Given the description of an element on the screen output the (x, y) to click on. 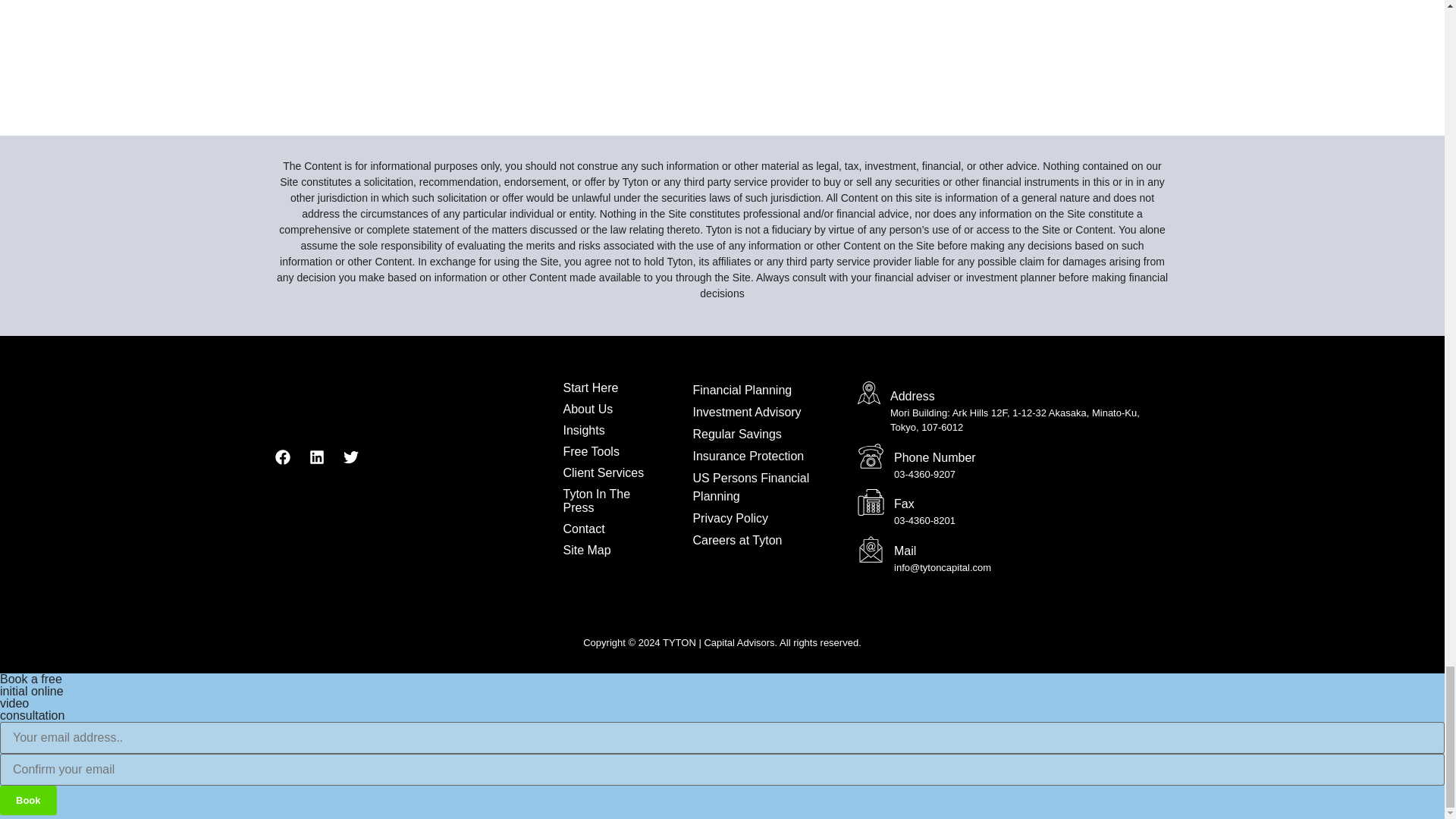
Book (28, 799)
